Given the description of an element on the screen output the (x, y) to click on. 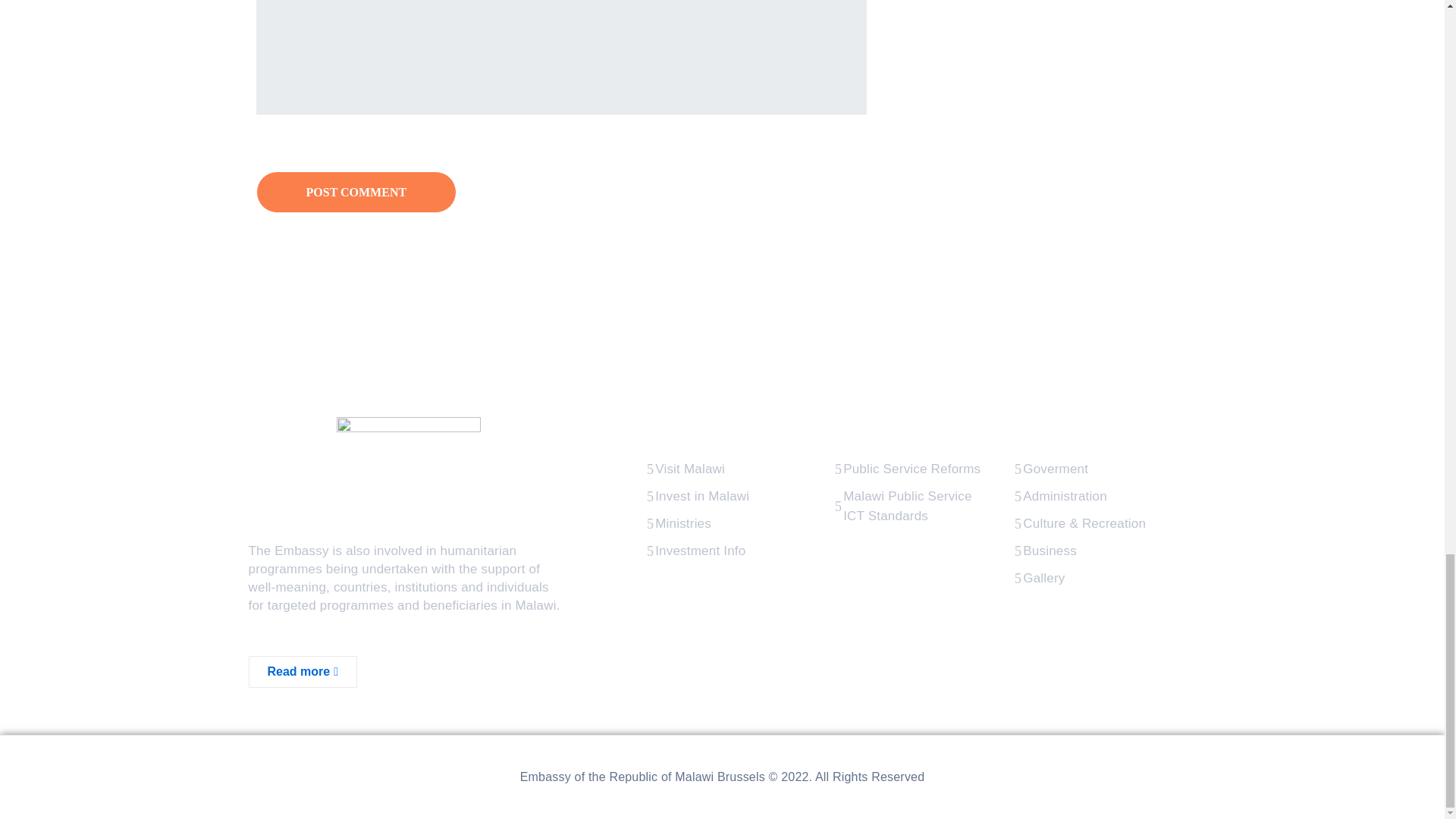
Post Comment (356, 191)
